Given the description of an element on the screen output the (x, y) to click on. 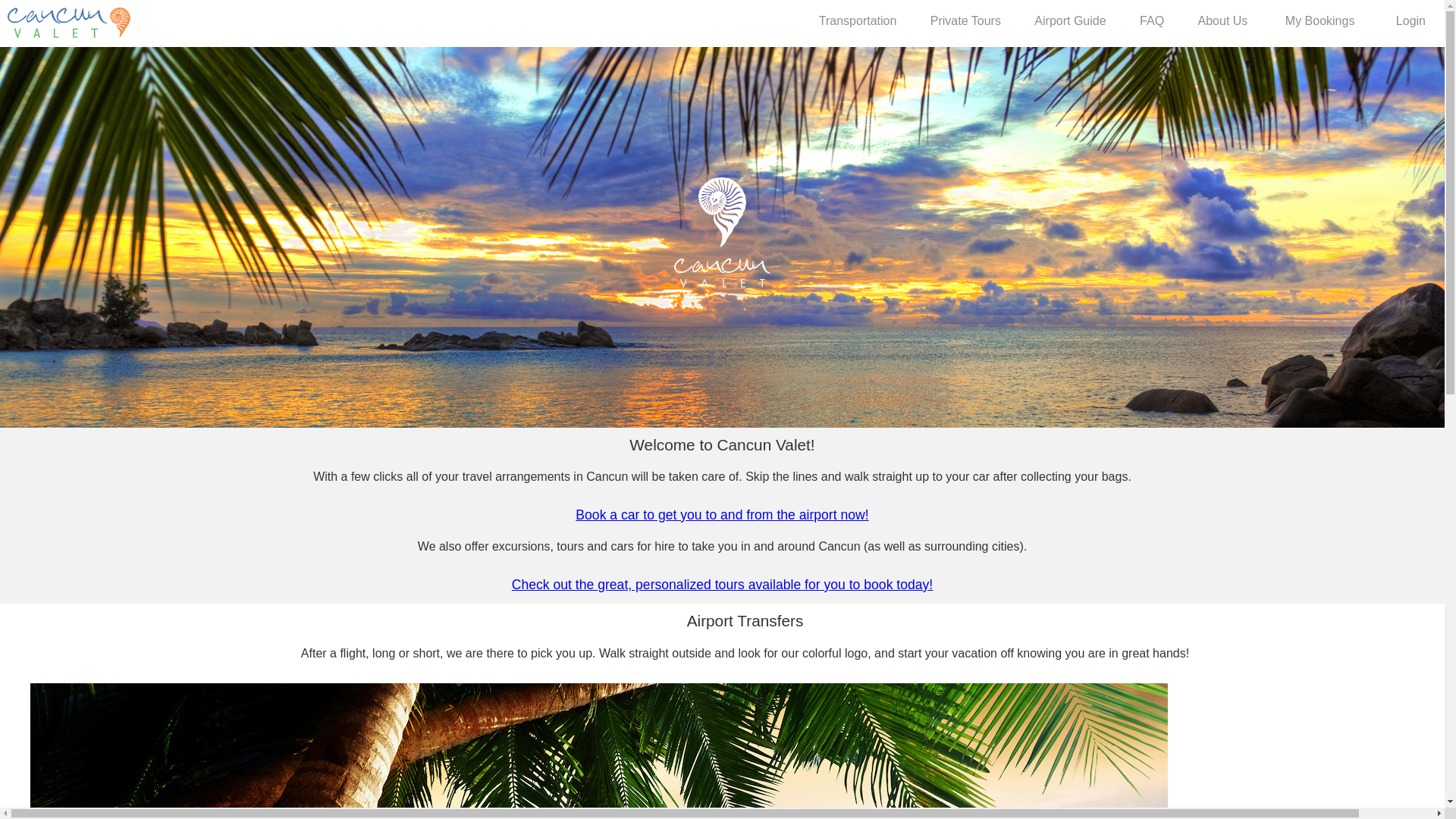
Login (1410, 21)
FAQ (1151, 21)
Book a car to get you to and from the airport now! (721, 514)
Private Tours (965, 21)
Transportation (857, 21)
Airport Guide (1069, 21)
About Us (1222, 21)
My Bookings (1319, 21)
